Given the description of an element on the screen output the (x, y) to click on. 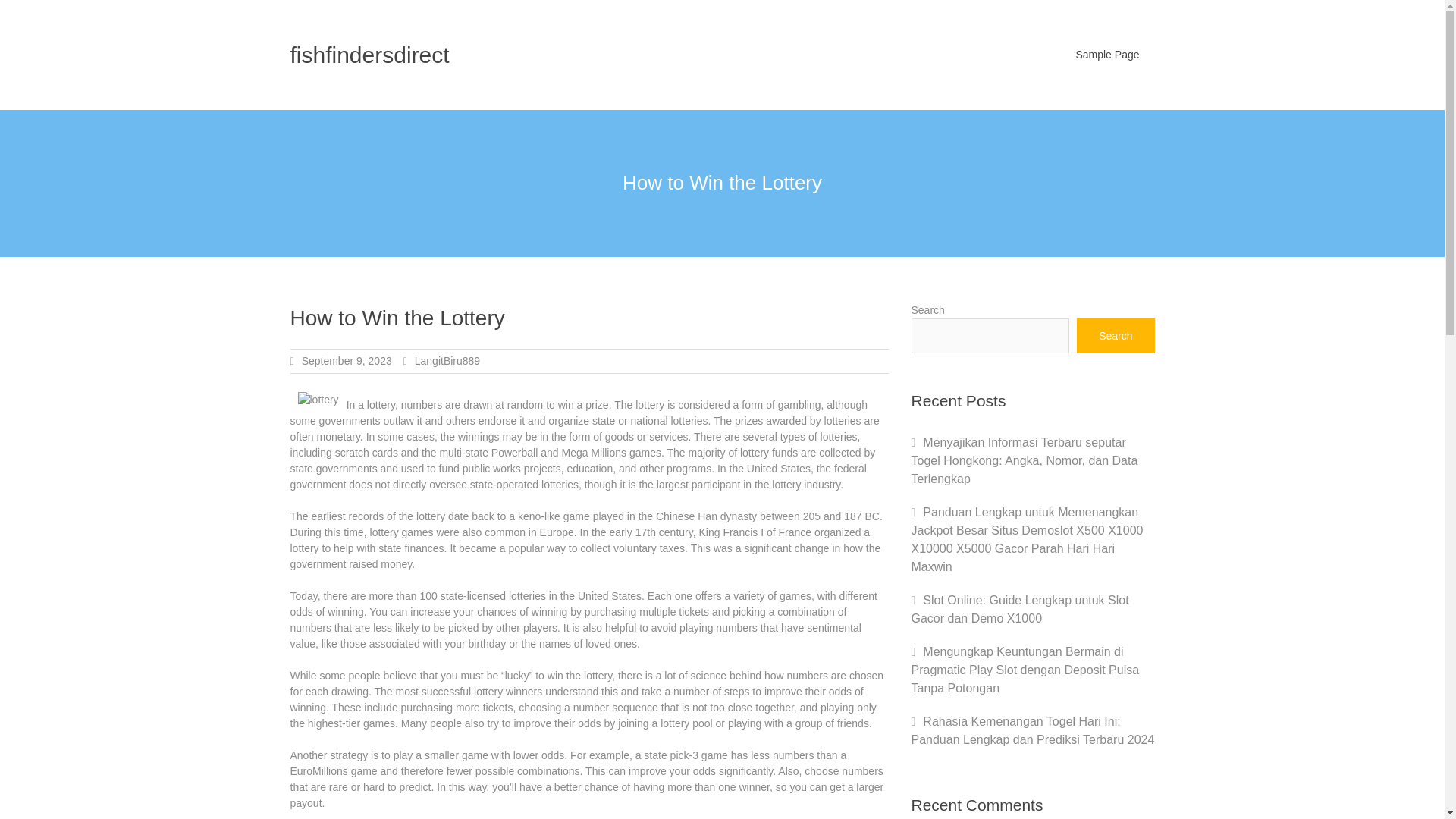
fishfindersdirect (368, 54)
Search (1115, 335)
LangitBiru889 (447, 360)
Sample Page (1106, 55)
September 9, 2023 (346, 360)
Slot Online: Guide Lengkap untuk Slot Gacor dan Demo X1000 (1020, 608)
